Given the description of an element on the screen output the (x, y) to click on. 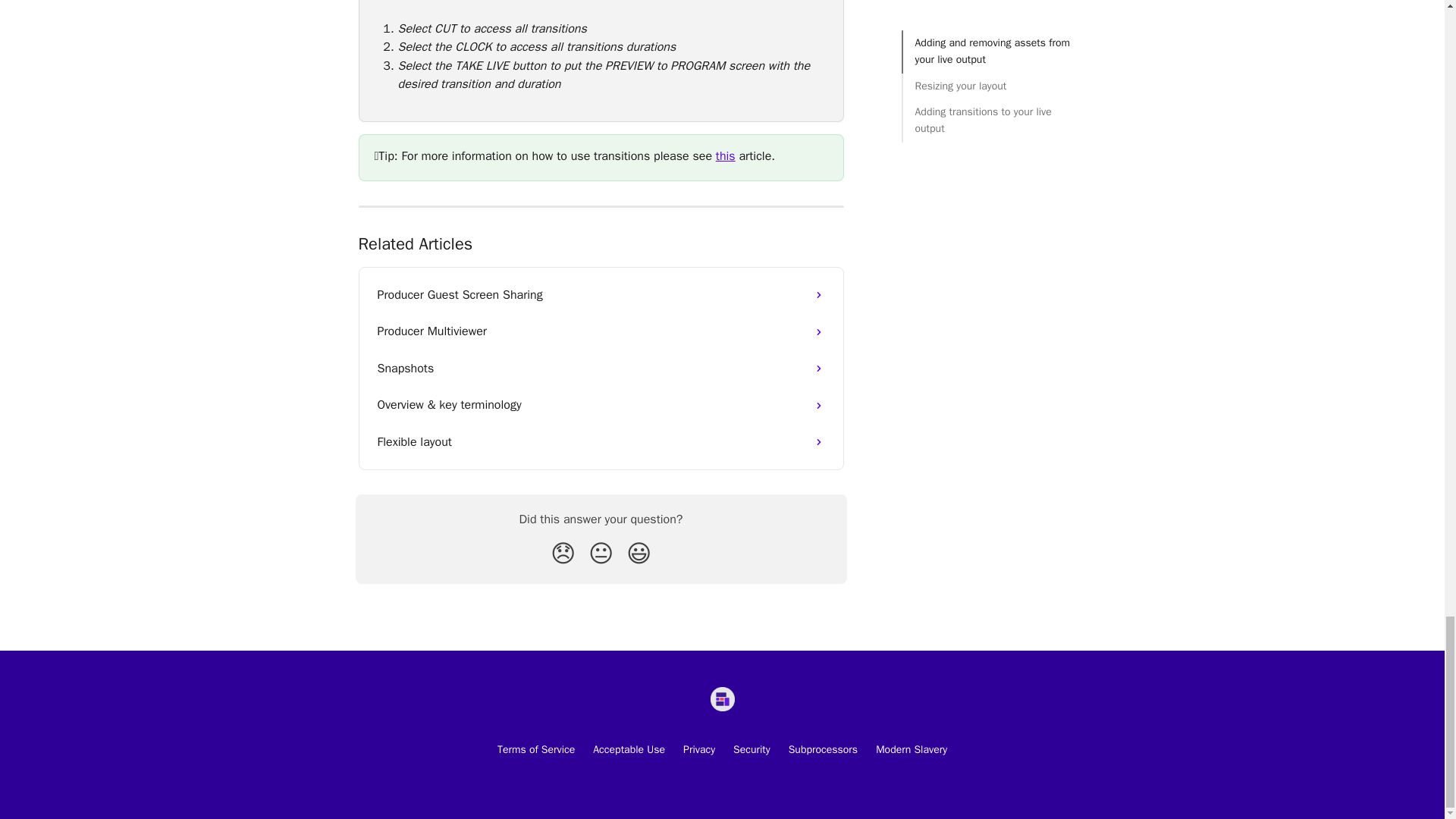
Producer Multiviewer (601, 330)
Privacy (698, 748)
Terms of Service (536, 748)
Modern Slavery (911, 748)
Acceptable Use (628, 748)
Security (751, 748)
Subprocessors (823, 748)
Flexible layout (601, 442)
Snapshots (601, 368)
Producer Guest Screen Sharing (601, 294)
